Given the description of an element on the screen output the (x, y) to click on. 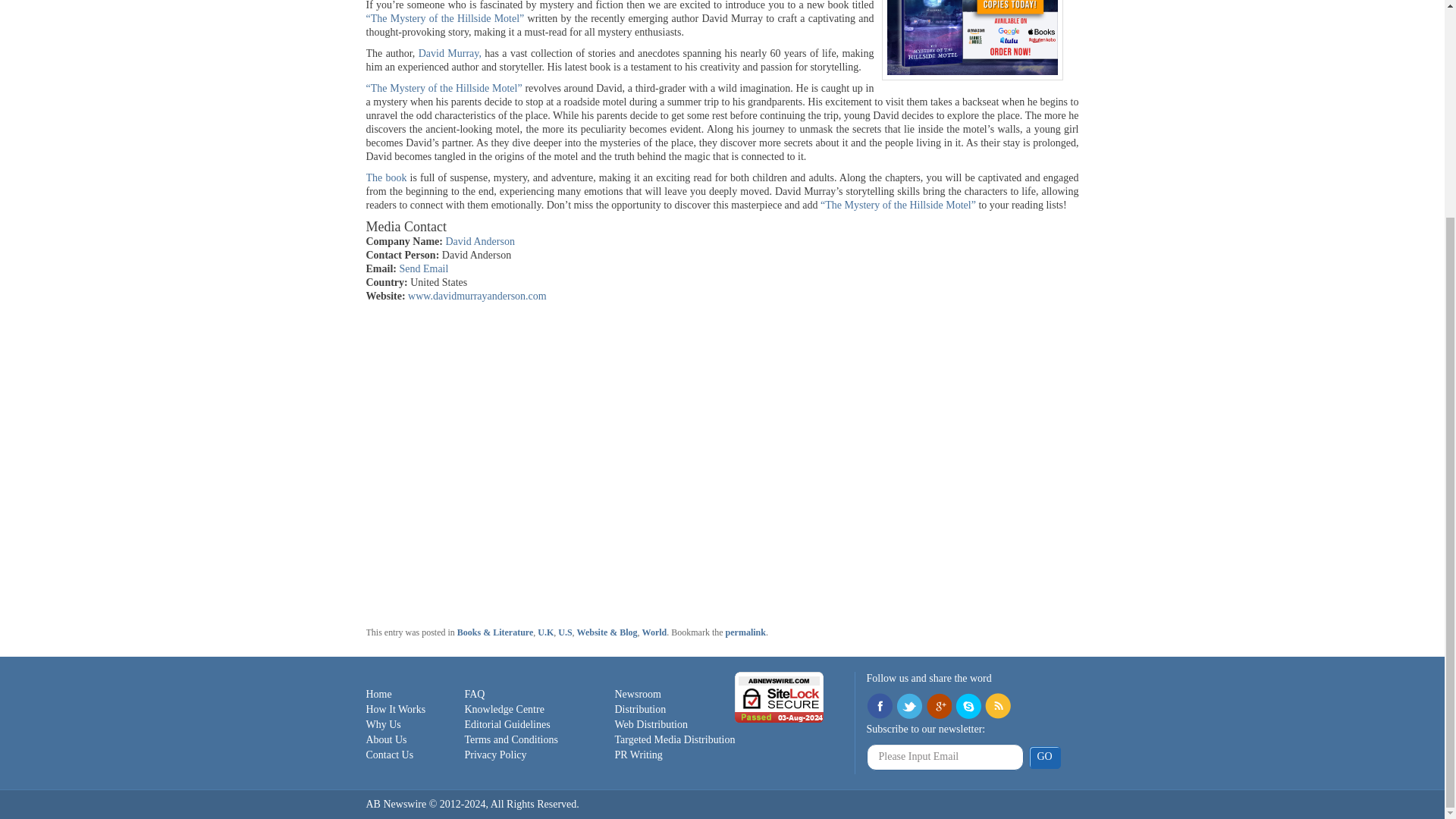
GO (1043, 757)
SiteLock (779, 696)
Please Input Email (944, 756)
